Given the description of an element on the screen output the (x, y) to click on. 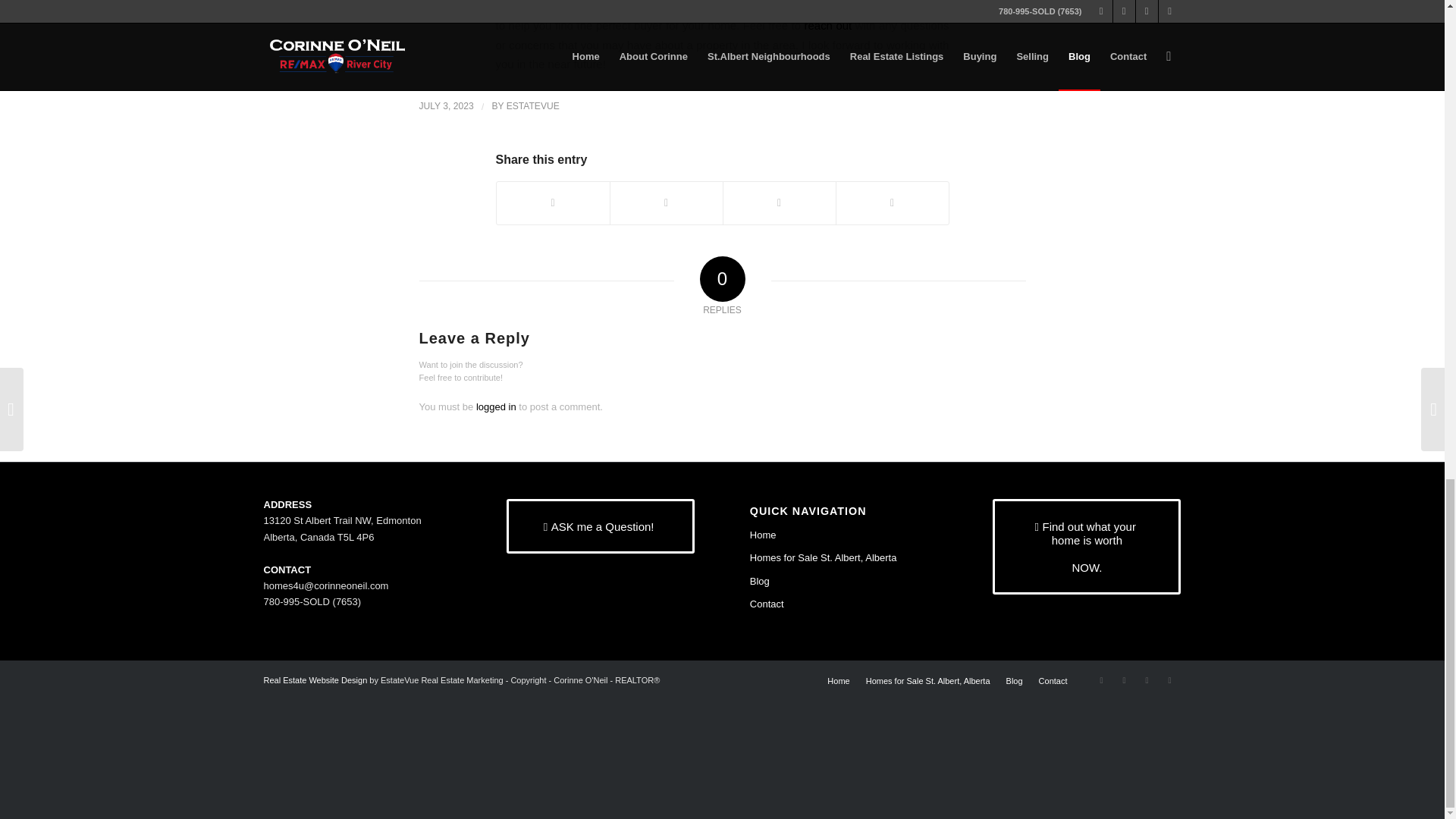
logged in (496, 406)
Homes for Sale St. Albert, Alberta (843, 558)
ASK me a Question! (600, 525)
ESTATEVUE (532, 105)
Home (843, 535)
Posts by EstateVue (532, 105)
reach out (828, 24)
contact me (822, 6)
